Given the description of an element on the screen output the (x, y) to click on. 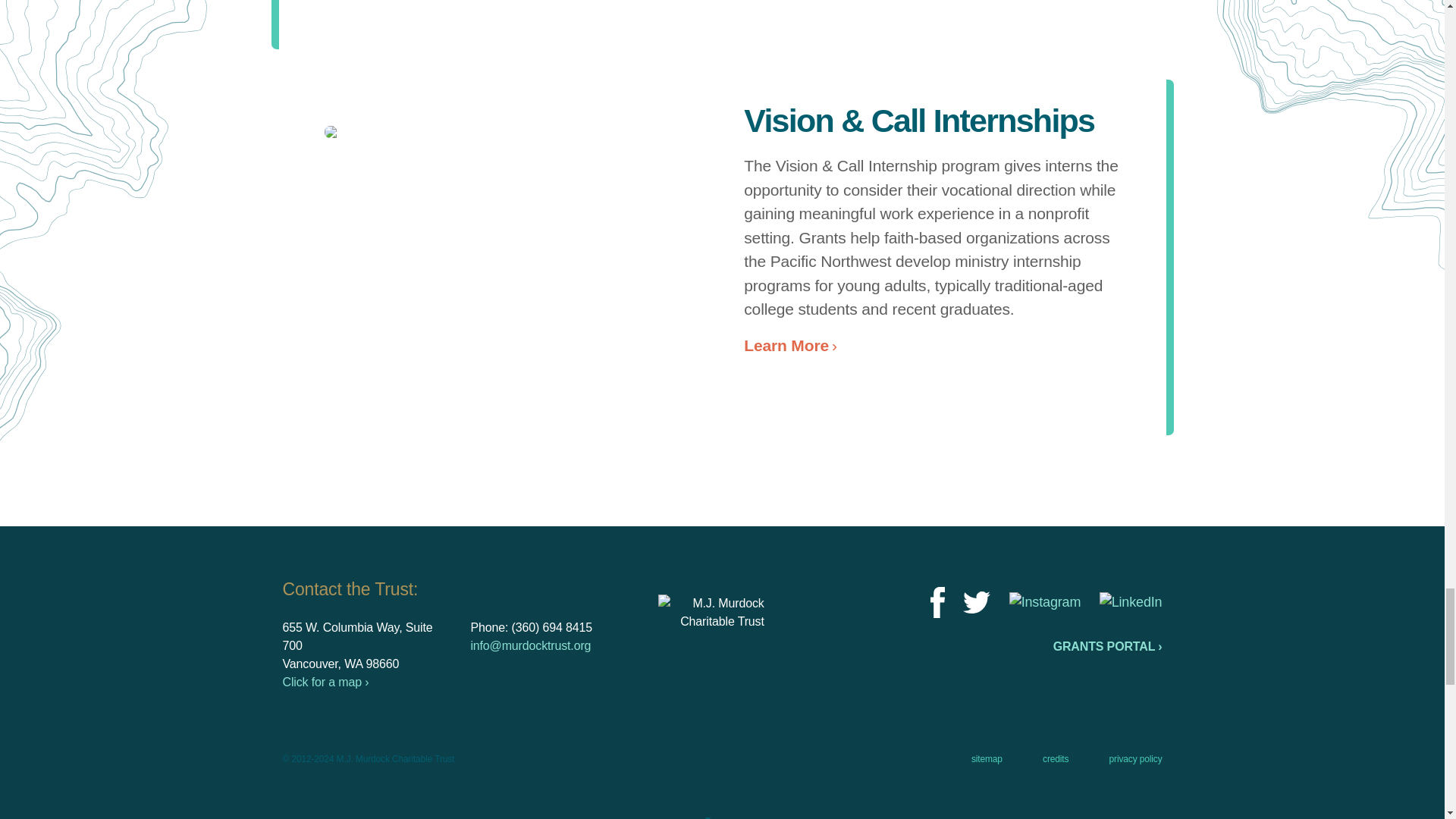
privacy policy (1135, 758)
credits (1055, 758)
sitemap (987, 758)
Learn More (786, 344)
